Given the description of an element on the screen output the (x, y) to click on. 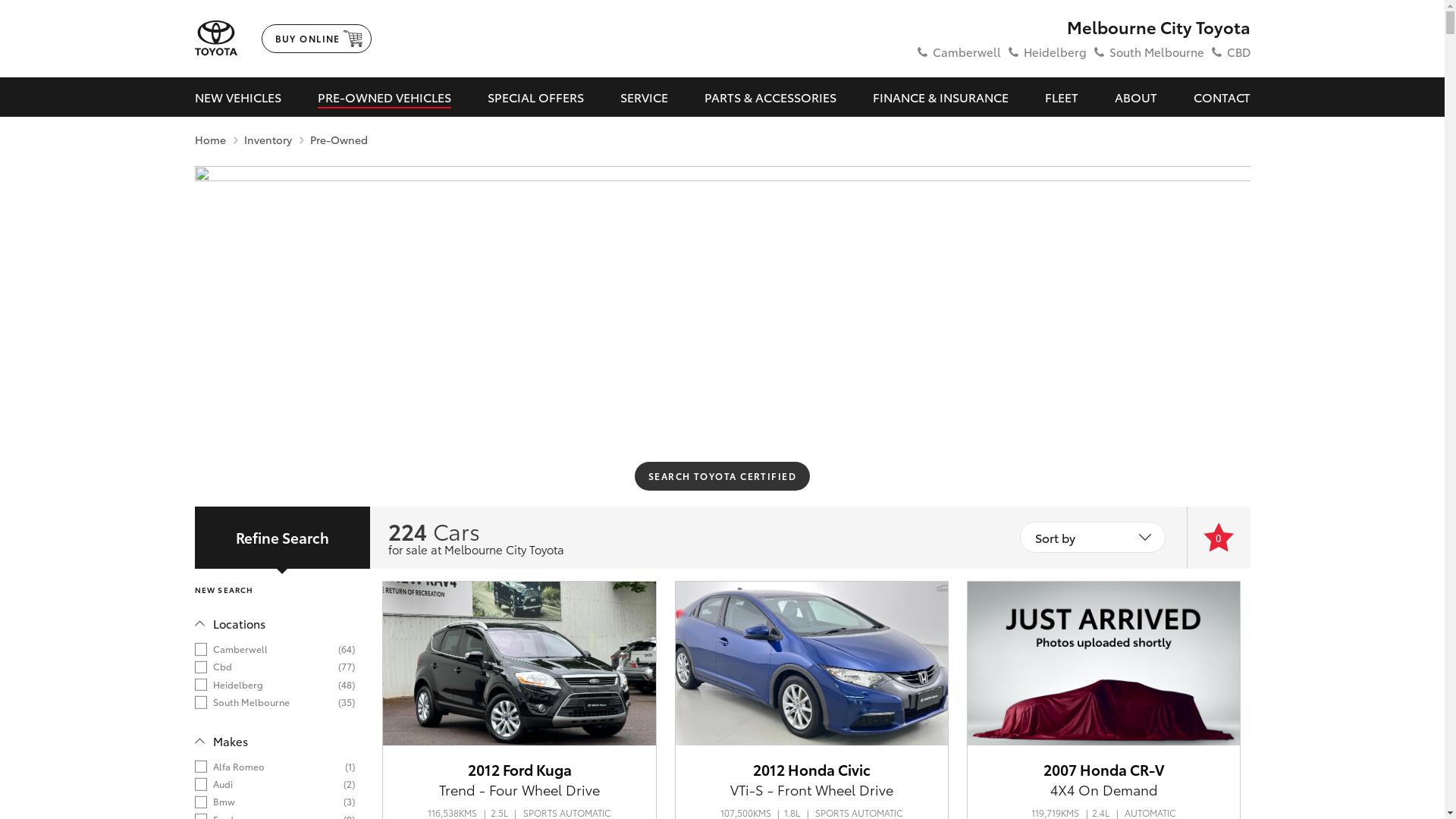
FINANCE & INSURANCE Element type: text (939, 96)
Melbourne City Toyota Element type: text (1080, 26)
Pre-Owned Element type: text (338, 139)
NEW VEHICLES Element type: text (237, 96)
Home Element type: text (209, 139)
PRE-OWNED VEHICLES Element type: text (383, 96)
2007 Honda CR-V Element type: text (1103, 769)
Heidelberg Element type: text (1054, 51)
2012 Honda Civic Element type: text (811, 769)
Locations Element type: text (229, 623)
CBD Element type: text (1238, 51)
ABOUT Element type: text (1135, 96)
BUY ONLINE Element type: text (315, 38)
PARTS & ACCESSORIES Element type: text (769, 96)
Makes Element type: text (220, 741)
NEW SEARCH Element type: text (223, 589)
Inventory Element type: text (267, 139)
South Melbourne Element type: text (1155, 51)
FLEET Element type: text (1061, 96)
Camberwell Element type: text (966, 51)
CONTACT Element type: text (1221, 96)
2012 Ford Kuga Element type: text (519, 769)
0 Element type: text (1218, 537)
SEARCH TOYOTA CERTIFIED Element type: text (721, 475)
SERVICE Element type: text (644, 96)
SPECIAL OFFERS Element type: text (534, 96)
